Given the description of an element on the screen output the (x, y) to click on. 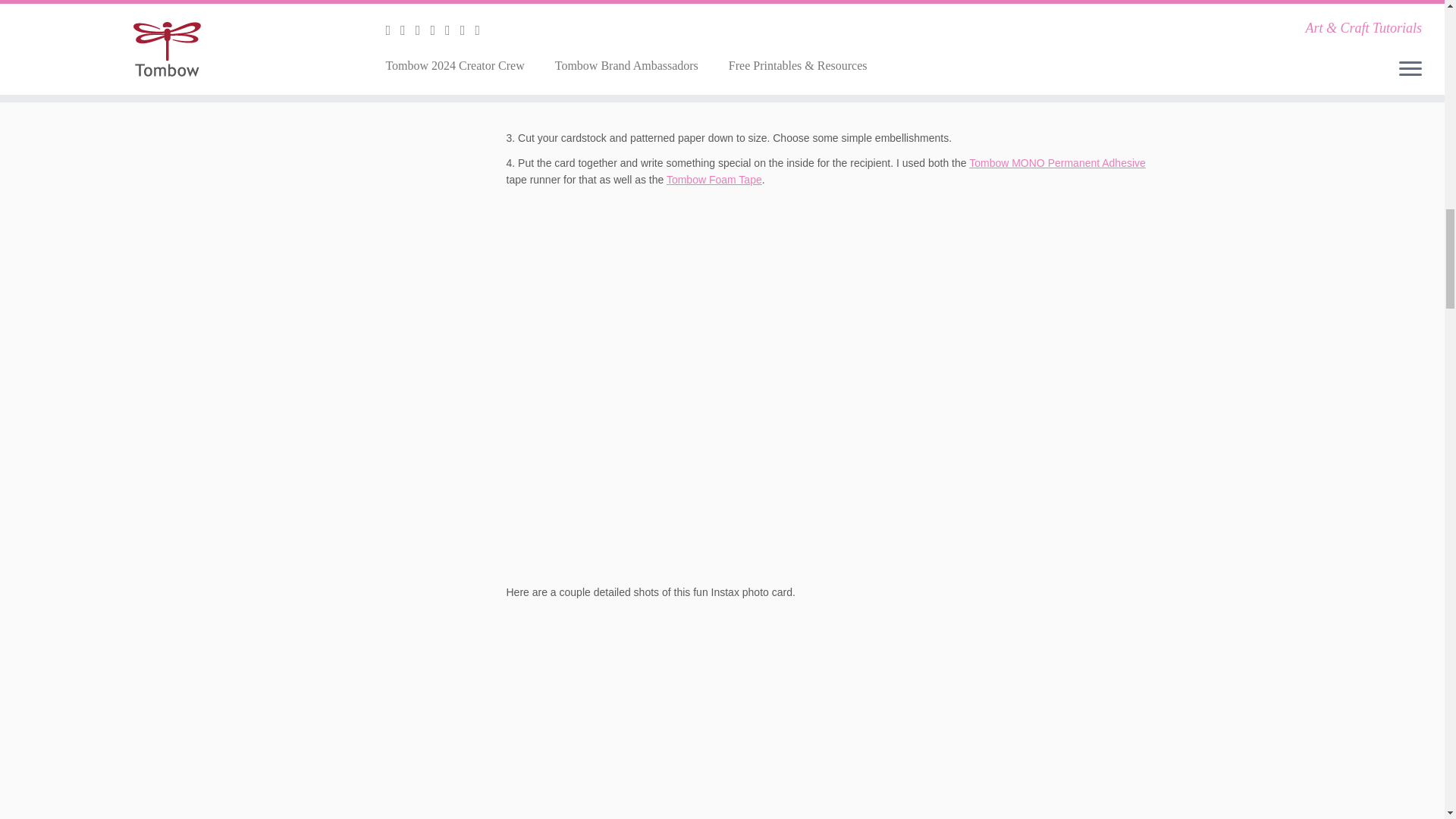
Tombow Foam Tape (713, 179)
Tombow MONO Permanent Adhesive (1057, 162)
